Given the description of an element on the screen output the (x, y) to click on. 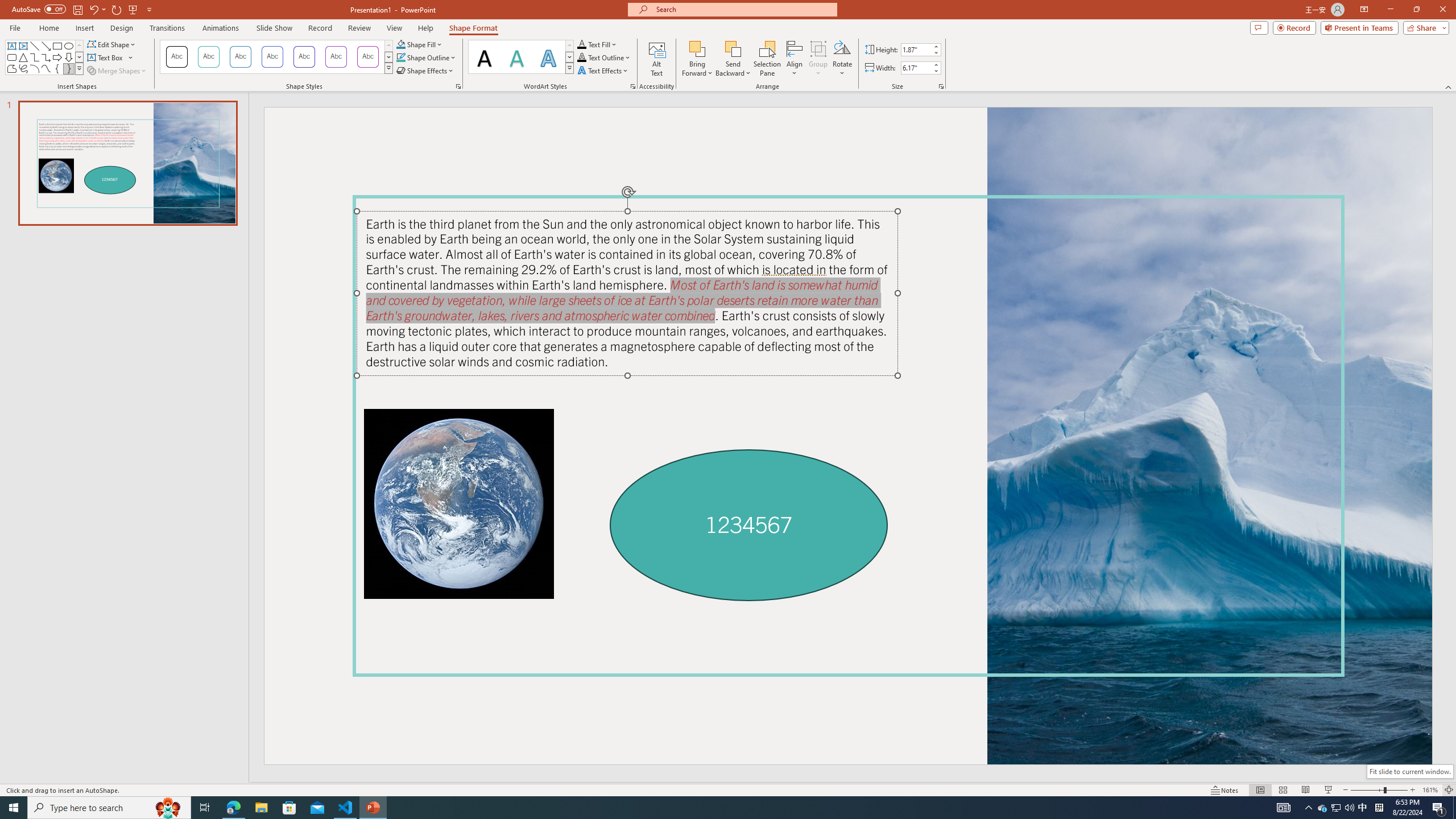
Shape Fill (419, 44)
Text Box (11, 45)
Customize Quick Access Toolbar (149, 9)
Help (425, 28)
Colored Outline - Aqua, Accent 2 (240, 56)
Right Brace (68, 68)
Undo (92, 9)
Reading View (1305, 790)
Freeform: Scribble (23, 68)
